Given the description of an element on the screen output the (x, y) to click on. 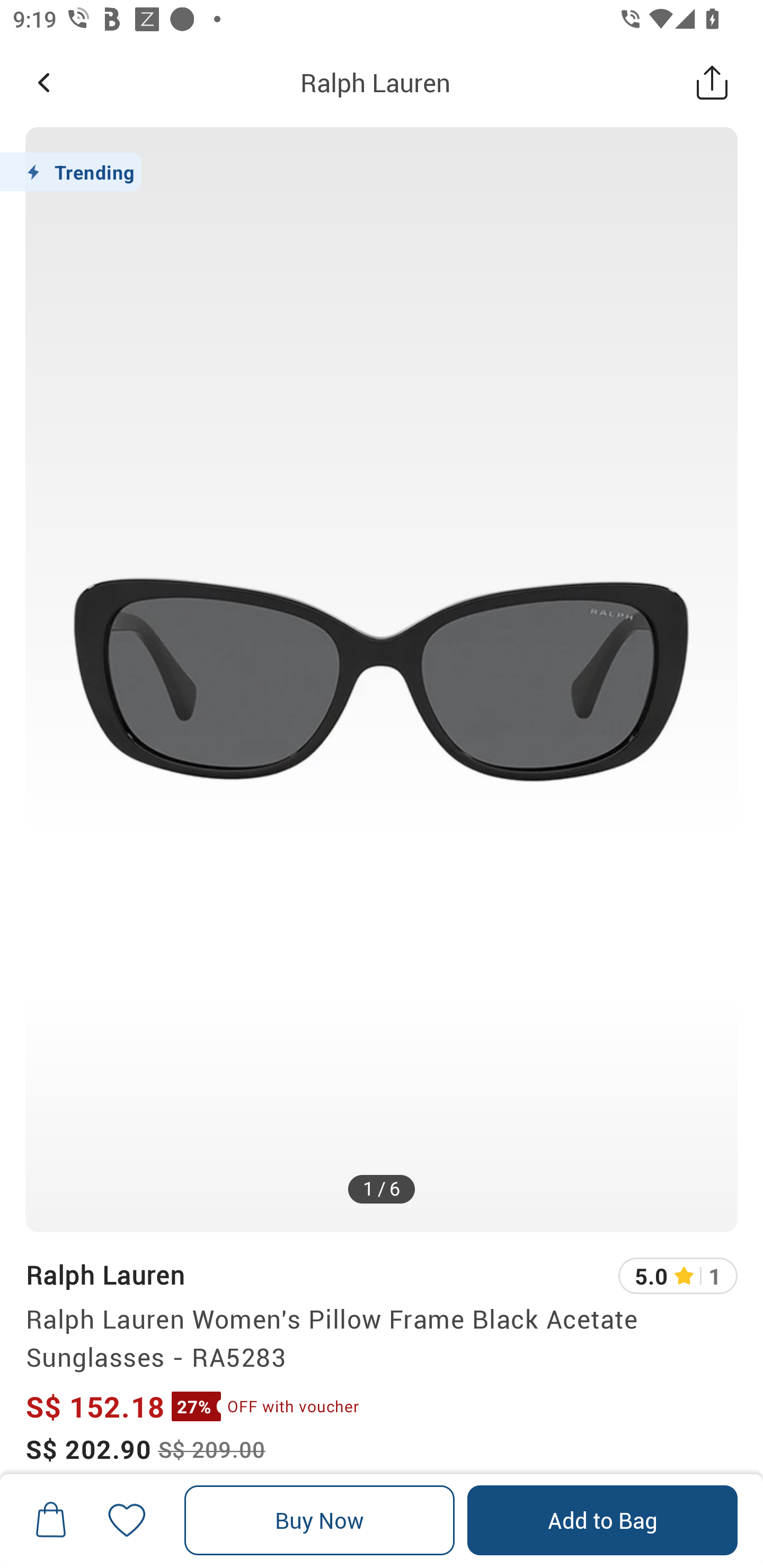
Ralph Lauren (375, 82)
Share this Product (711, 82)
Ralph Lauren (104, 1274)
5.0 1 (677, 1275)
Buy Now (319, 1519)
Add to Bag (601, 1519)
